Given the description of an element on the screen output the (x, y) to click on. 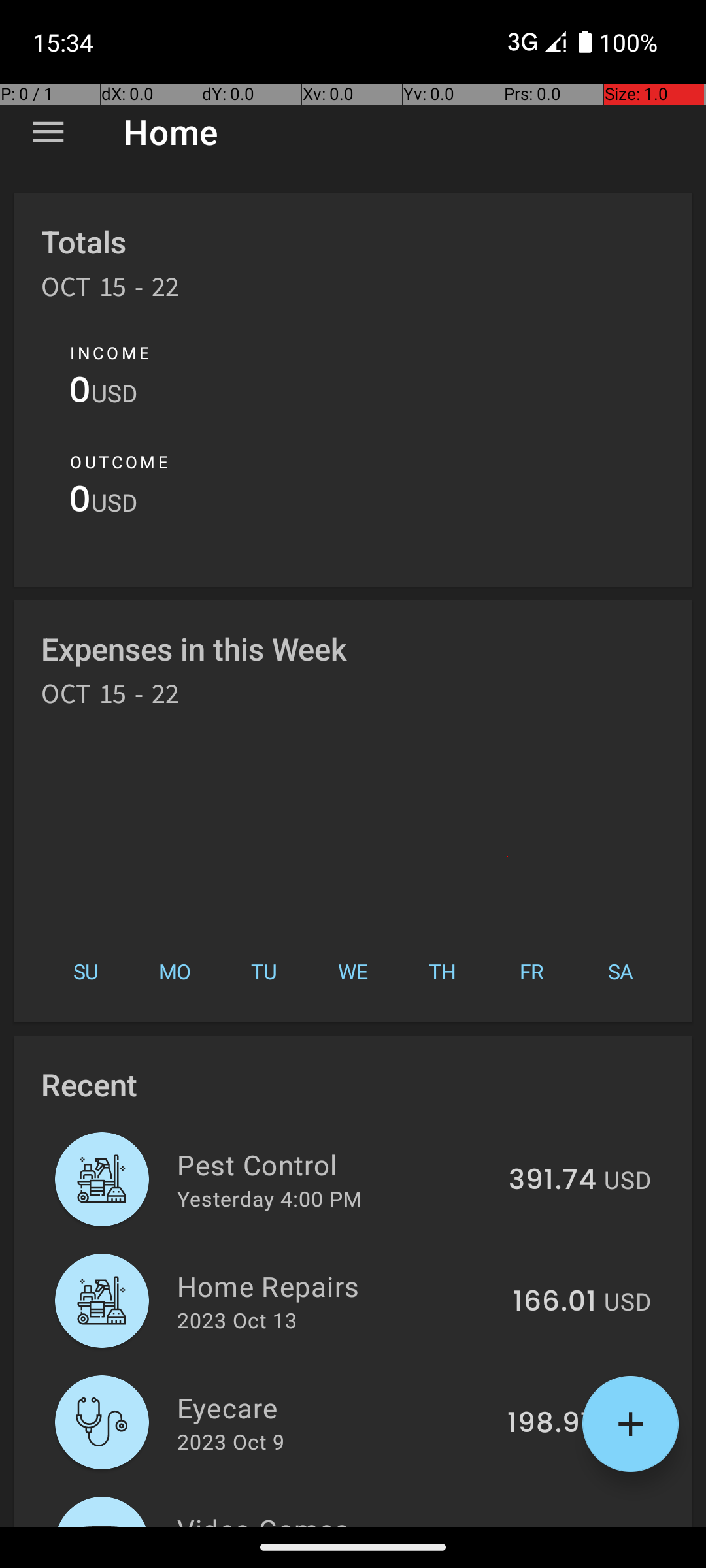
Pest Control Element type: android.widget.TextView (335, 1164)
Yesterday 4:00 PM Element type: android.widget.TextView (269, 1198)
391.74 Element type: android.widget.TextView (551, 1180)
Home Repairs Element type: android.widget.TextView (337, 1285)
166.01 Element type: android.widget.TextView (554, 1301)
Eyecare Element type: android.widget.TextView (334, 1407)
2023 Oct 9 Element type: android.widget.TextView (230, 1441)
198.97 Element type: android.widget.TextView (551, 1423)
Video Games Element type: android.widget.TextView (331, 1518)
206.76 Element type: android.widget.TextView (548, 1524)
